Given the description of an element on the screen output the (x, y) to click on. 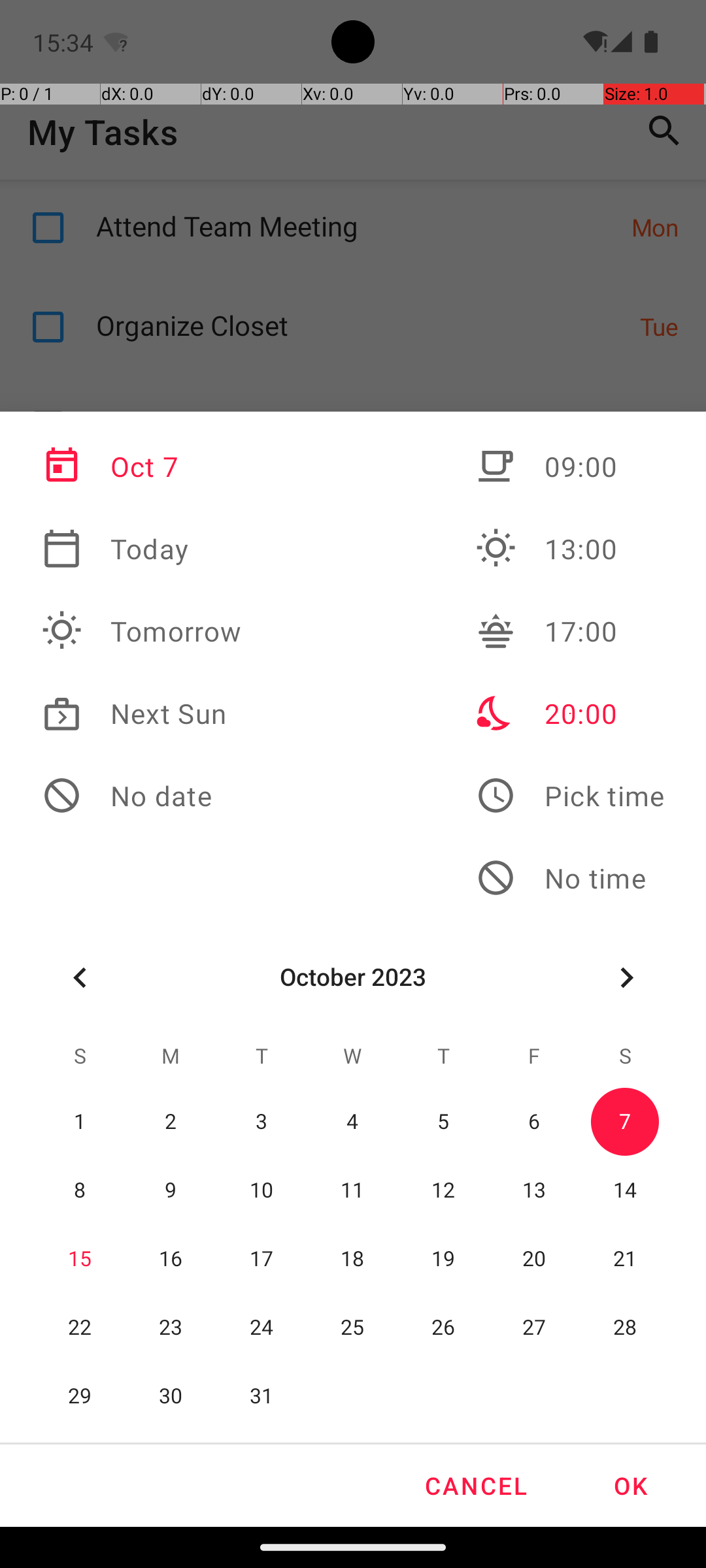
Oct 7 Element type: android.widget.CompoundButton (141, 466)
